Given the description of an element on the screen output the (x, y) to click on. 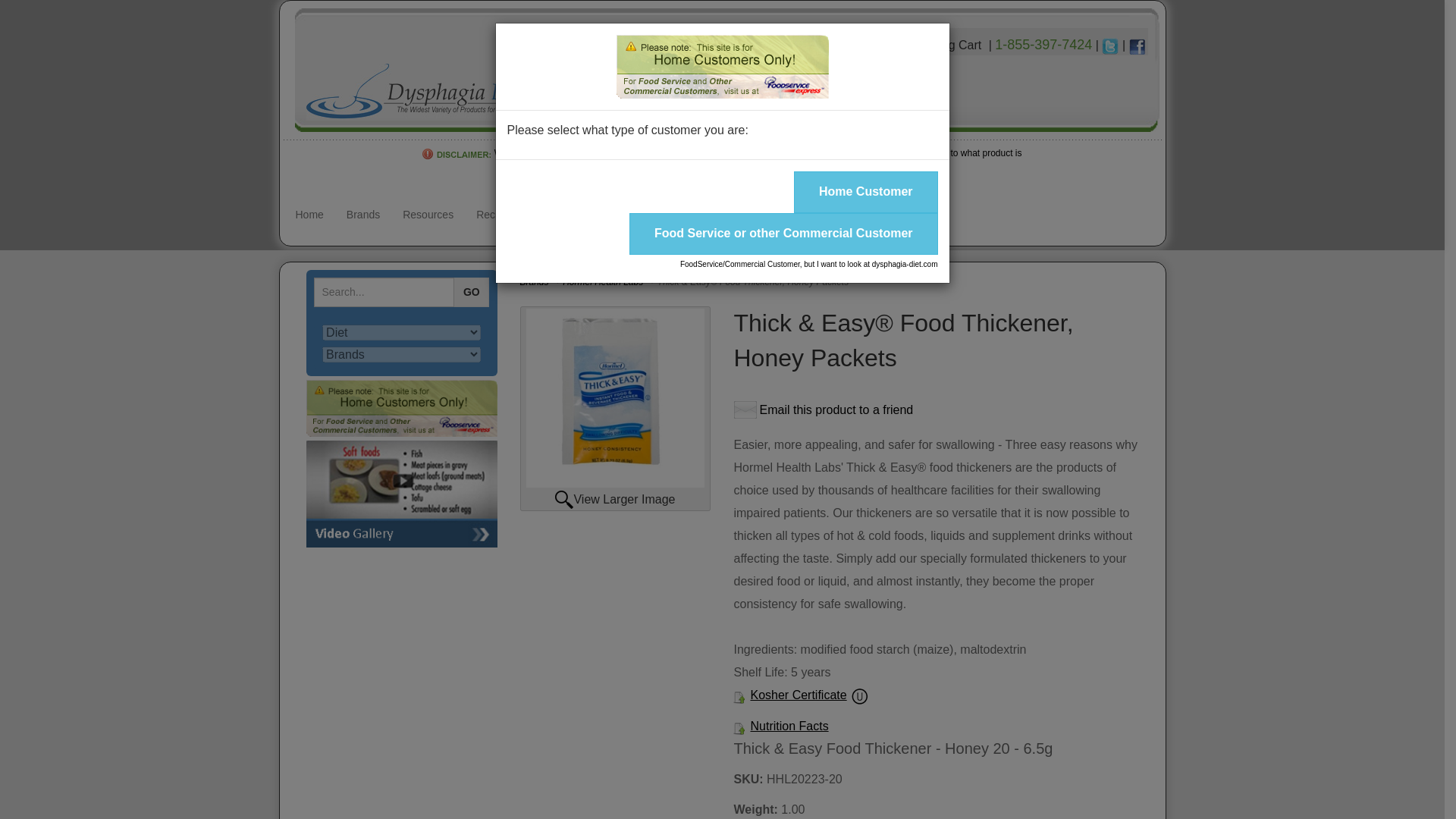
Blog (722, 214)
Nutrition Facts (788, 725)
Kosher Certificate (797, 694)
Go (471, 292)
Go (471, 292)
Click here to view larger image (614, 397)
Brands (362, 214)
Login (791, 44)
Hormel Health Labs (602, 281)
About Us (558, 214)
Resources (427, 214)
Recipes (494, 214)
Home Customer (865, 191)
Home (308, 214)
Email this product to a friend (822, 409)
